Given the description of an element on the screen output the (x, y) to click on. 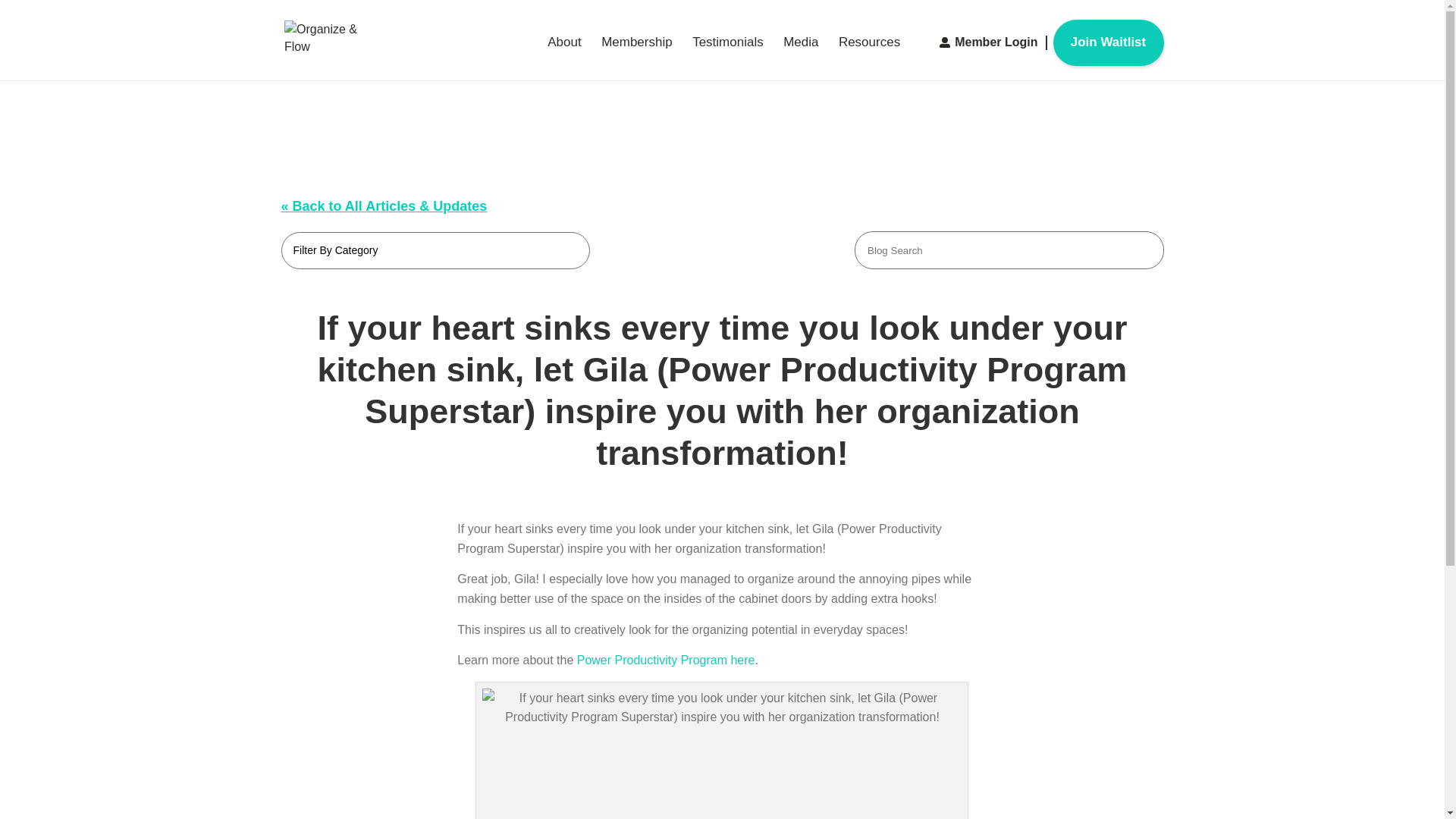
Member Login (995, 42)
Search for: (1008, 249)
Media (800, 54)
Testimonials (727, 54)
Power Productivity Program here (665, 659)
Membership (636, 54)
Resources (868, 54)
About (563, 54)
Join Waitlist (1107, 42)
